Given the description of an element on the screen output the (x, y) to click on. 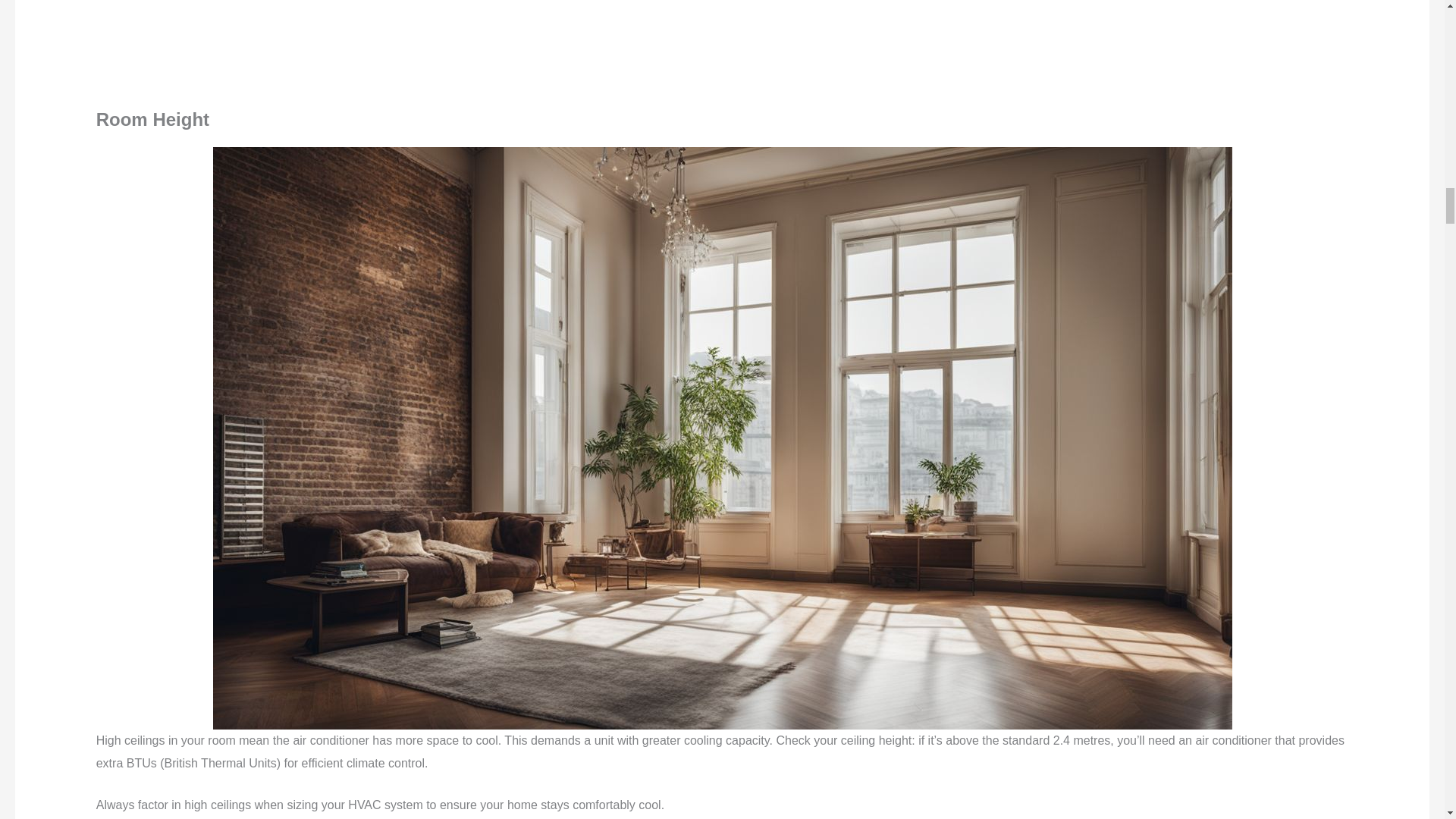
Air Conditioner - How To Select The Proper Size Unit (722, 43)
